Given the description of an element on the screen output the (x, y) to click on. 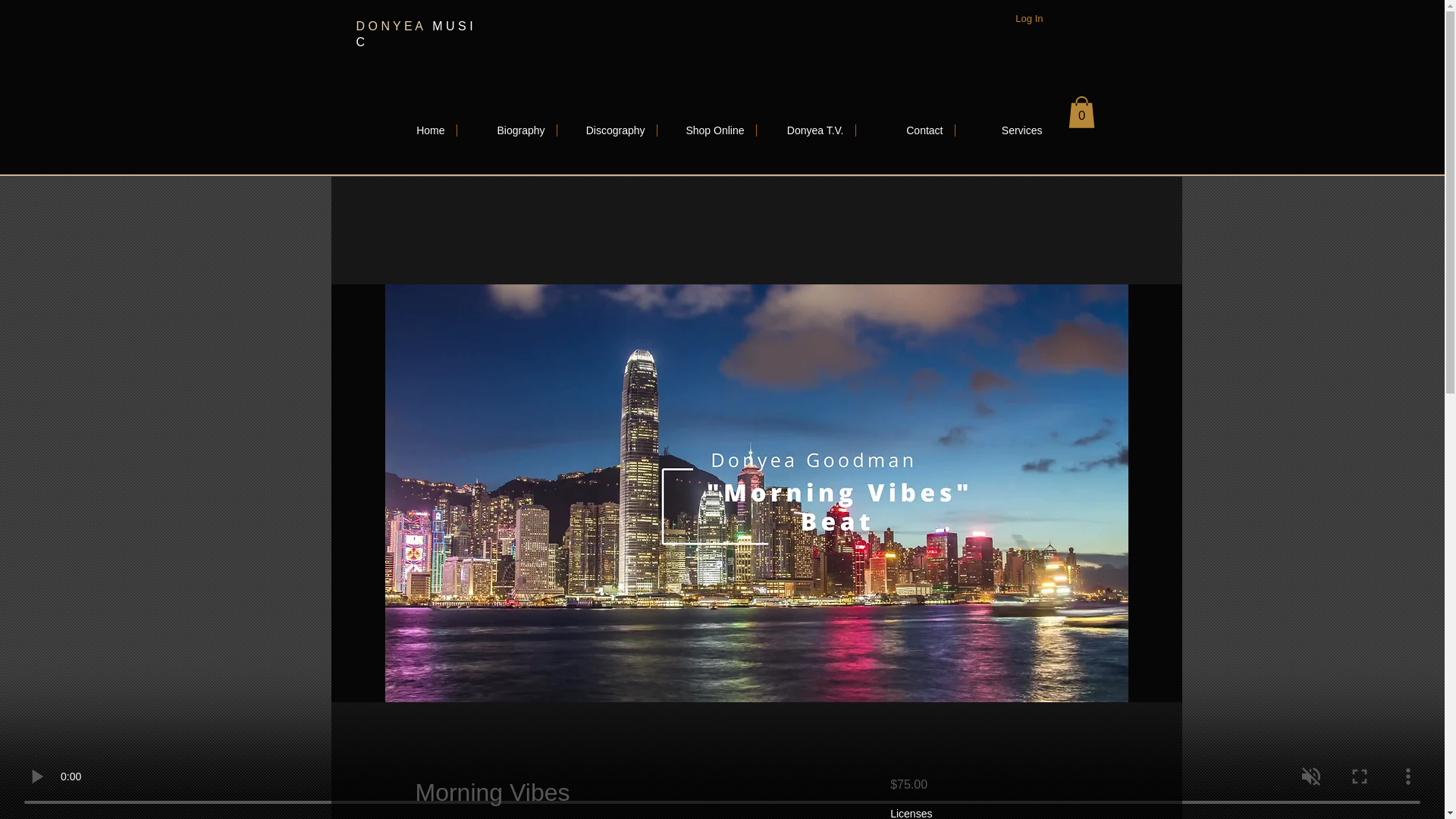
Donyea T.V. (806, 130)
Contact (904, 130)
Facebook Like (300, 11)
Home (406, 130)
Discography (606, 130)
Biography (506, 130)
Shop Online (705, 130)
Services (1004, 130)
Twitter Follow (299, 31)
Log In (1028, 19)
